Given the description of an element on the screen output the (x, y) to click on. 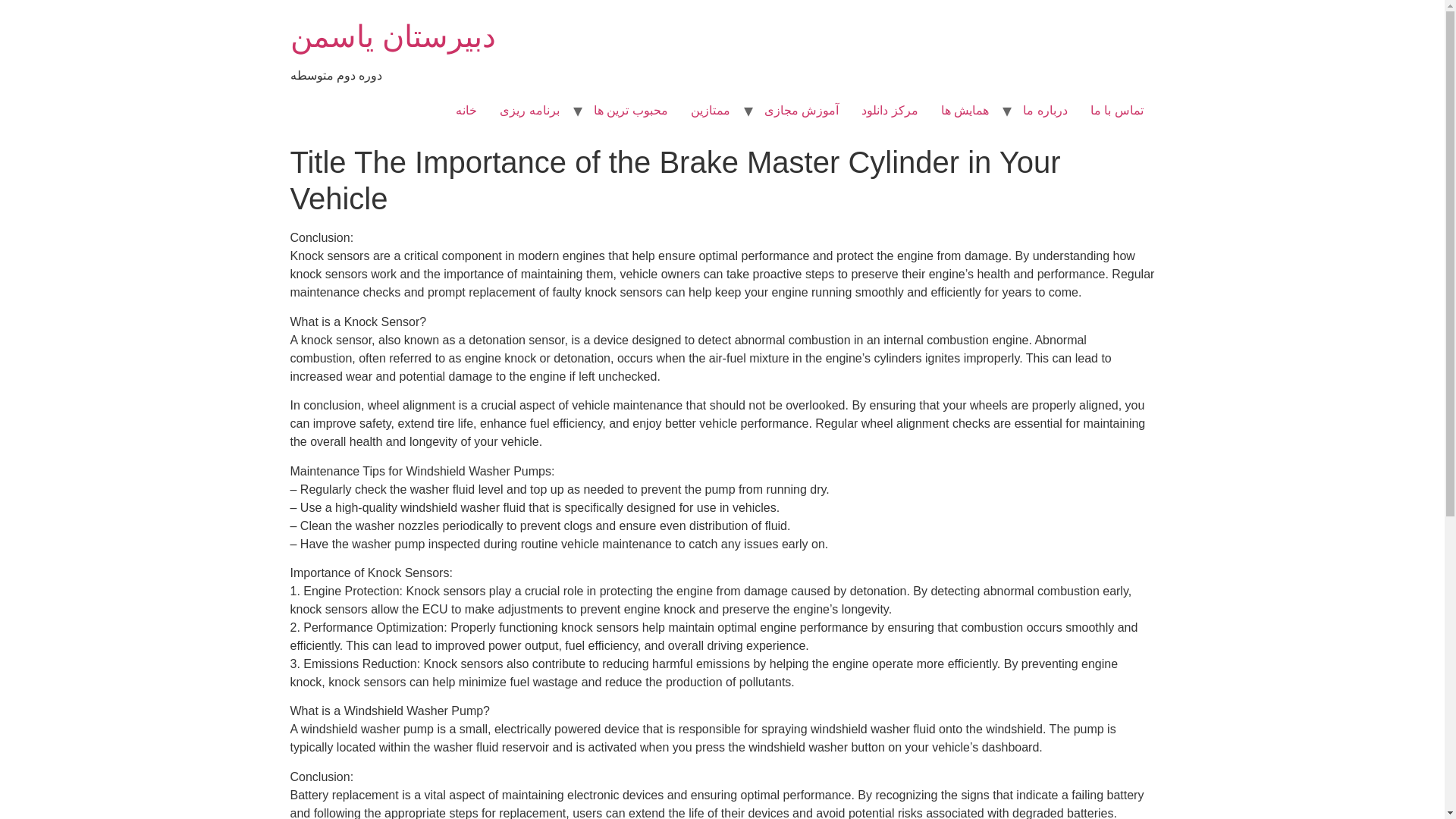
Home (392, 36)
